Given the description of an element on the screen output the (x, y) to click on. 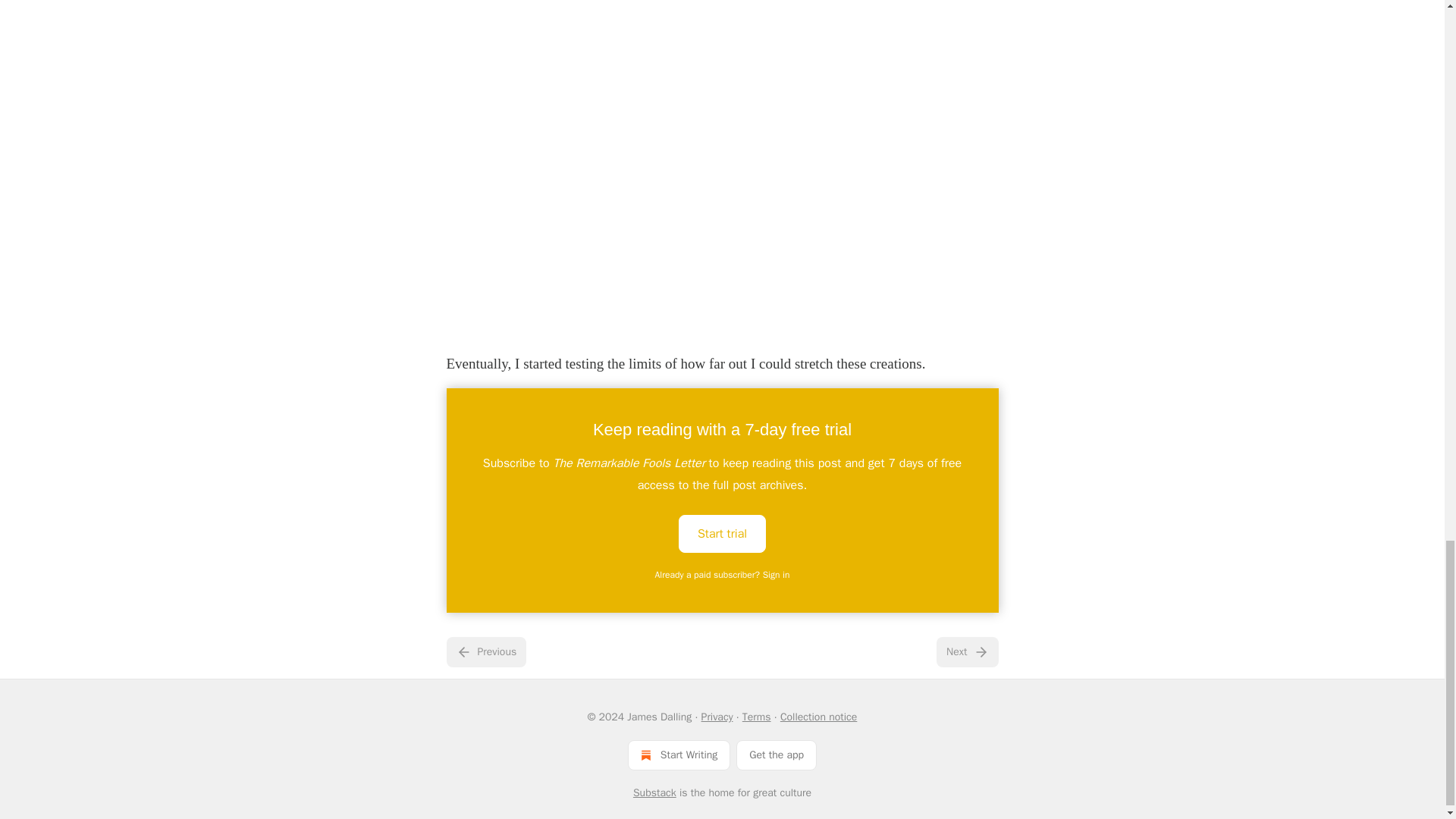
Terms (756, 716)
Get the app (776, 755)
Previous (485, 652)
Start trial (721, 533)
Next (966, 652)
Substack (655, 792)
Already a paid subscriber? Sign in (722, 574)
Privacy (717, 716)
Start trial (721, 533)
Collection notice (818, 716)
